Given the description of an element on the screen output the (x, y) to click on. 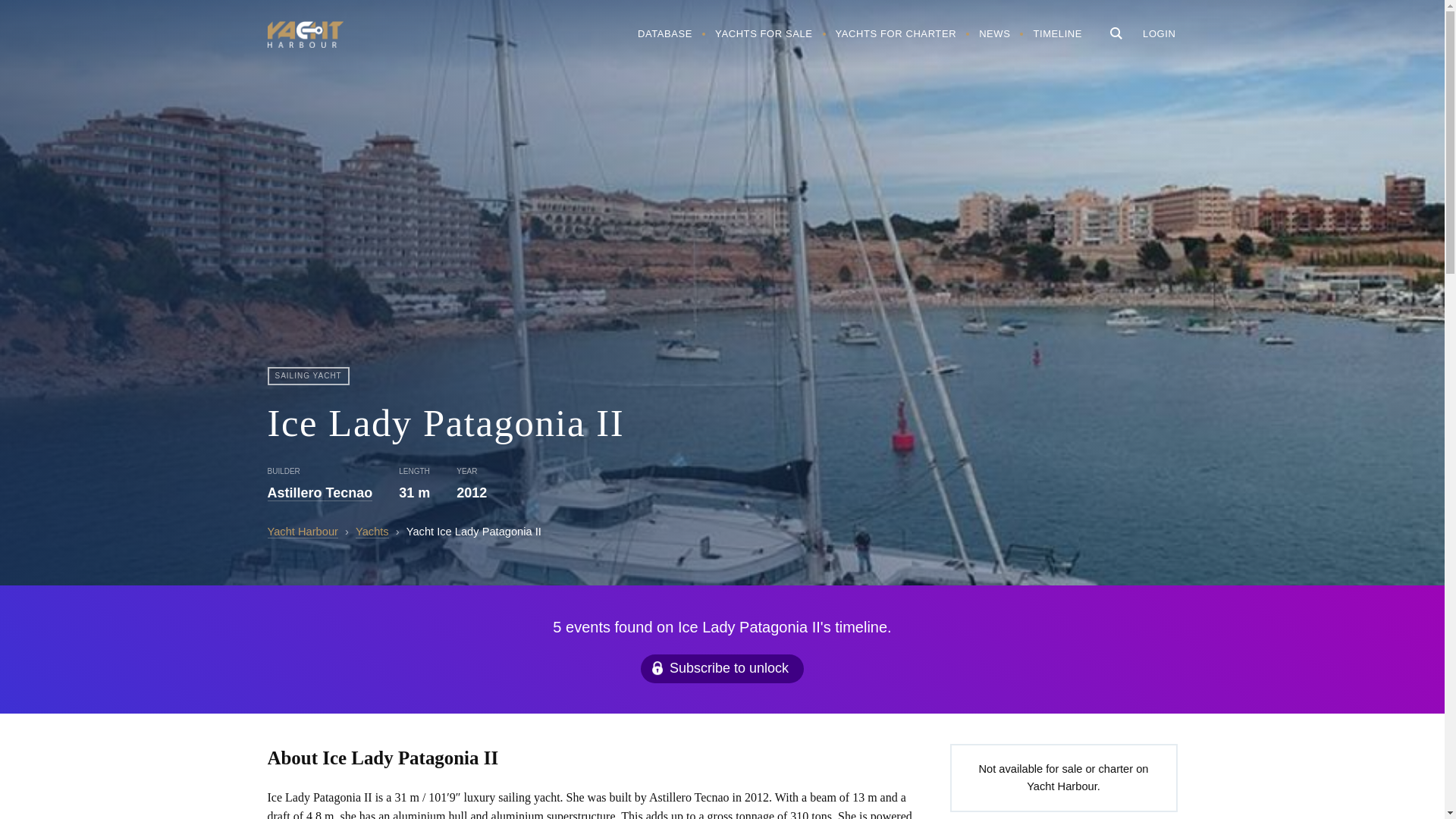
Subscribe to unlock (721, 668)
Yachts (371, 531)
Yacht Harbour (304, 36)
DATABASE (664, 33)
YACHTS FOR SALE (763, 33)
LOGIN (1158, 33)
TIMELINE (1057, 33)
NEWS (995, 33)
Astillero Tecnao (319, 493)
YACHTS FOR CHARTER (896, 33)
Yacht Harbour (301, 531)
